Given the description of an element on the screen output the (x, y) to click on. 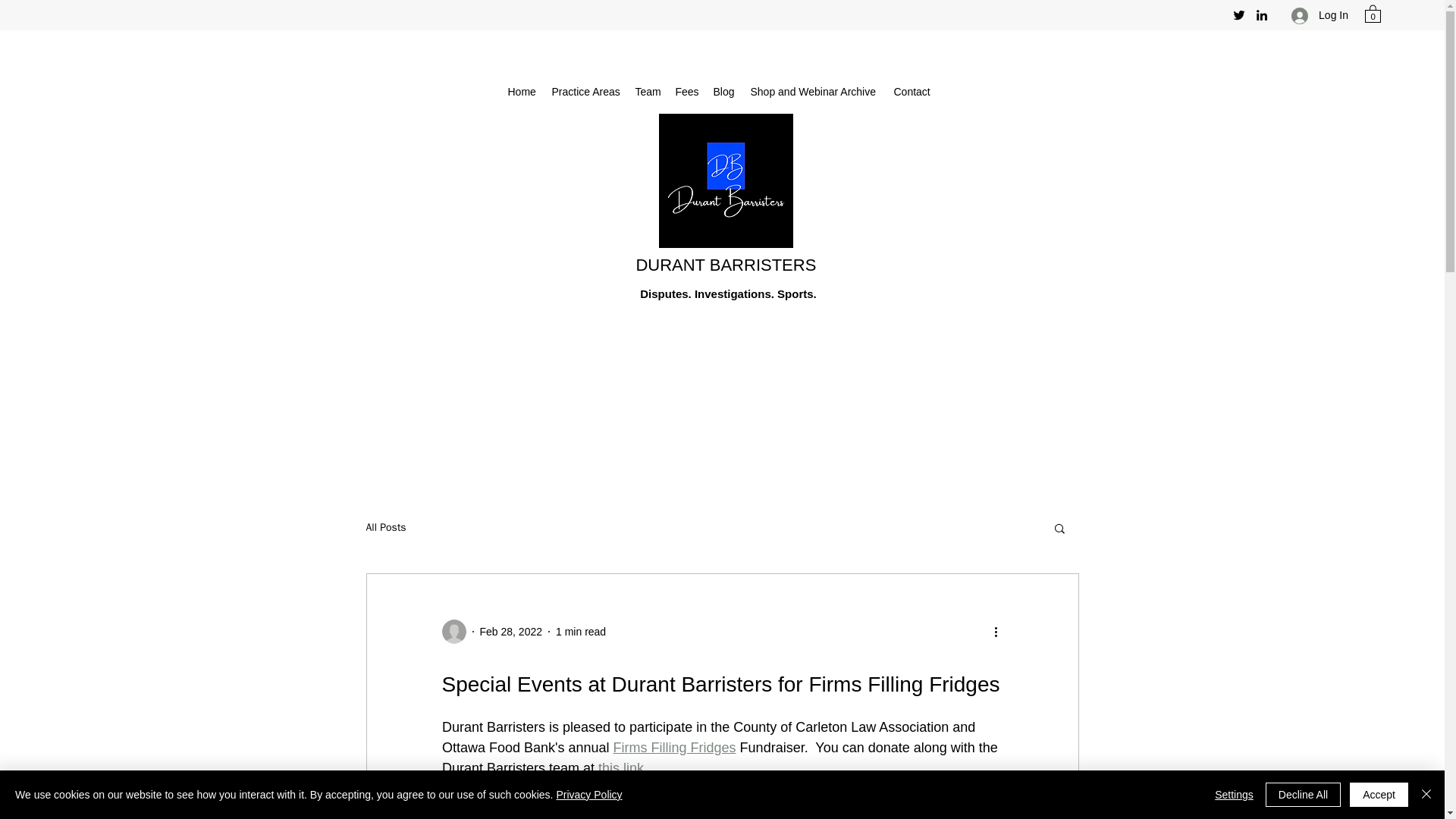
All Posts (385, 527)
Feb 28, 2022 (510, 630)
Fees (685, 91)
Firms Filling Fridges (673, 747)
Team (647, 91)
Log In (1319, 15)
Blog (723, 91)
Shop and Webinar Archive (814, 91)
1 min read (580, 630)
this link (620, 767)
Contact (912, 91)
Practice Areas (585, 91)
Home (522, 91)
